Given the description of an element on the screen output the (x, y) to click on. 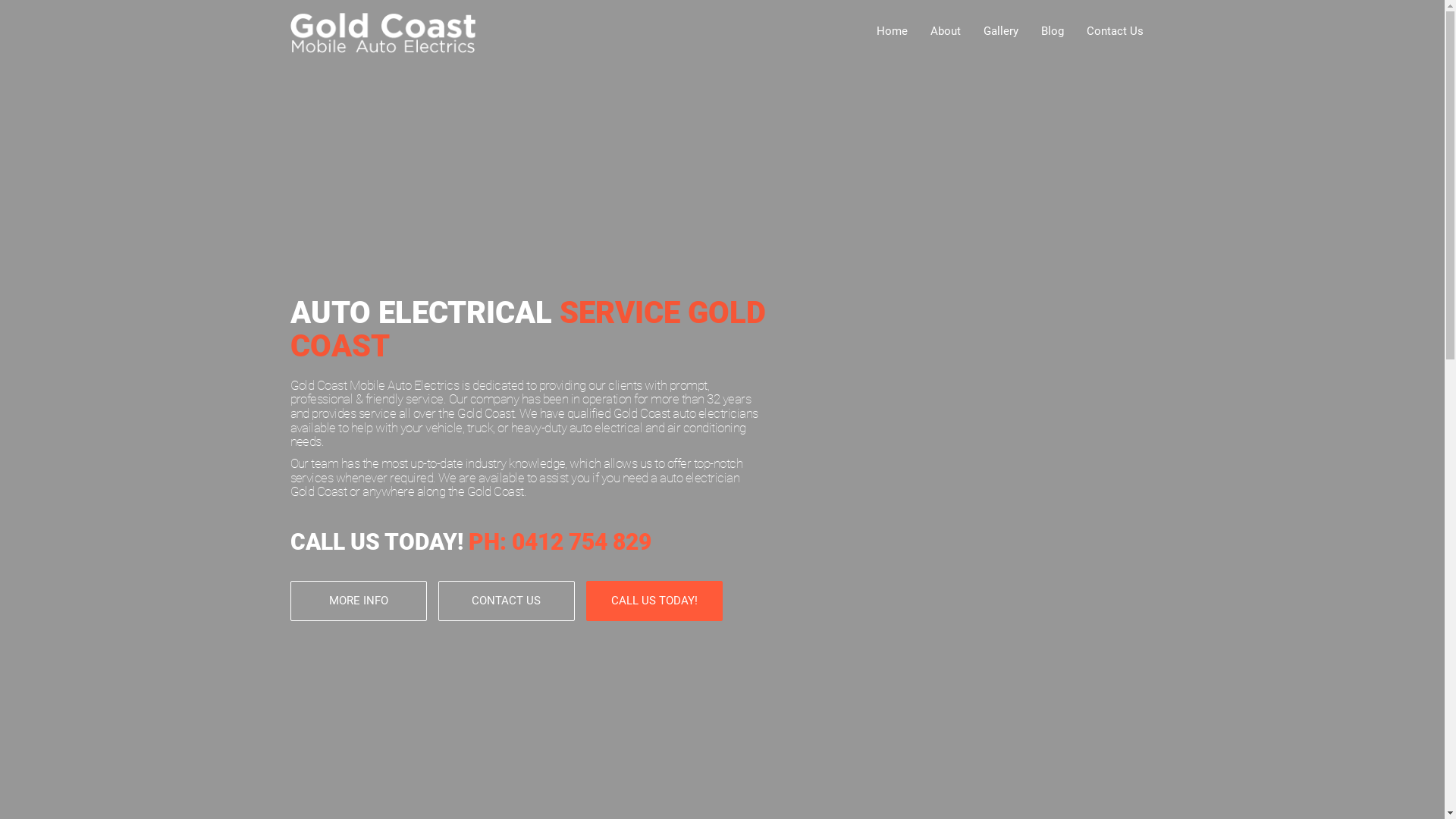
Gallery Element type: text (1000, 30)
CALL US TODAY! Element type: text (653, 600)
Contact Us Element type: text (1114, 30)
Blog Element type: text (1052, 30)
MORE INFO Element type: text (357, 600)
CONTACT US Element type: text (506, 600)
PH: 0412 754 829 Element type: text (559, 541)
About Element type: text (945, 30)
Home Element type: text (891, 30)
